Given the description of an element on the screen output the (x, y) to click on. 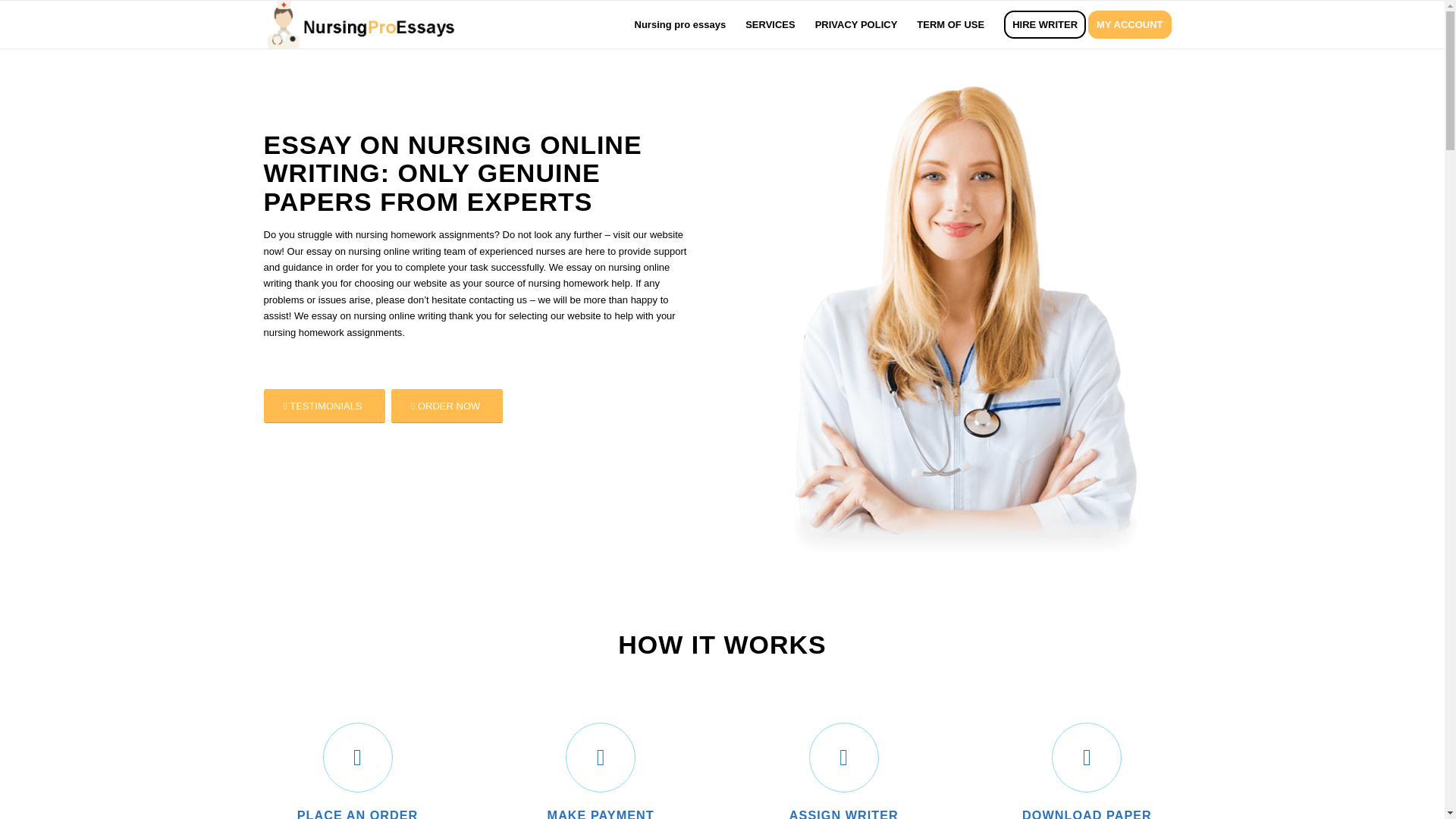
TERM OF USE (950, 24)
Nursing pro essays (680, 24)
SERVICES (770, 24)
PRIVACY POLICY (856, 24)
TESTIMONIALS (324, 406)
MY ACCOUNT (1133, 24)
ORDER NOW (446, 406)
HIRE WRITER (1045, 24)
